Given the description of an element on the screen output the (x, y) to click on. 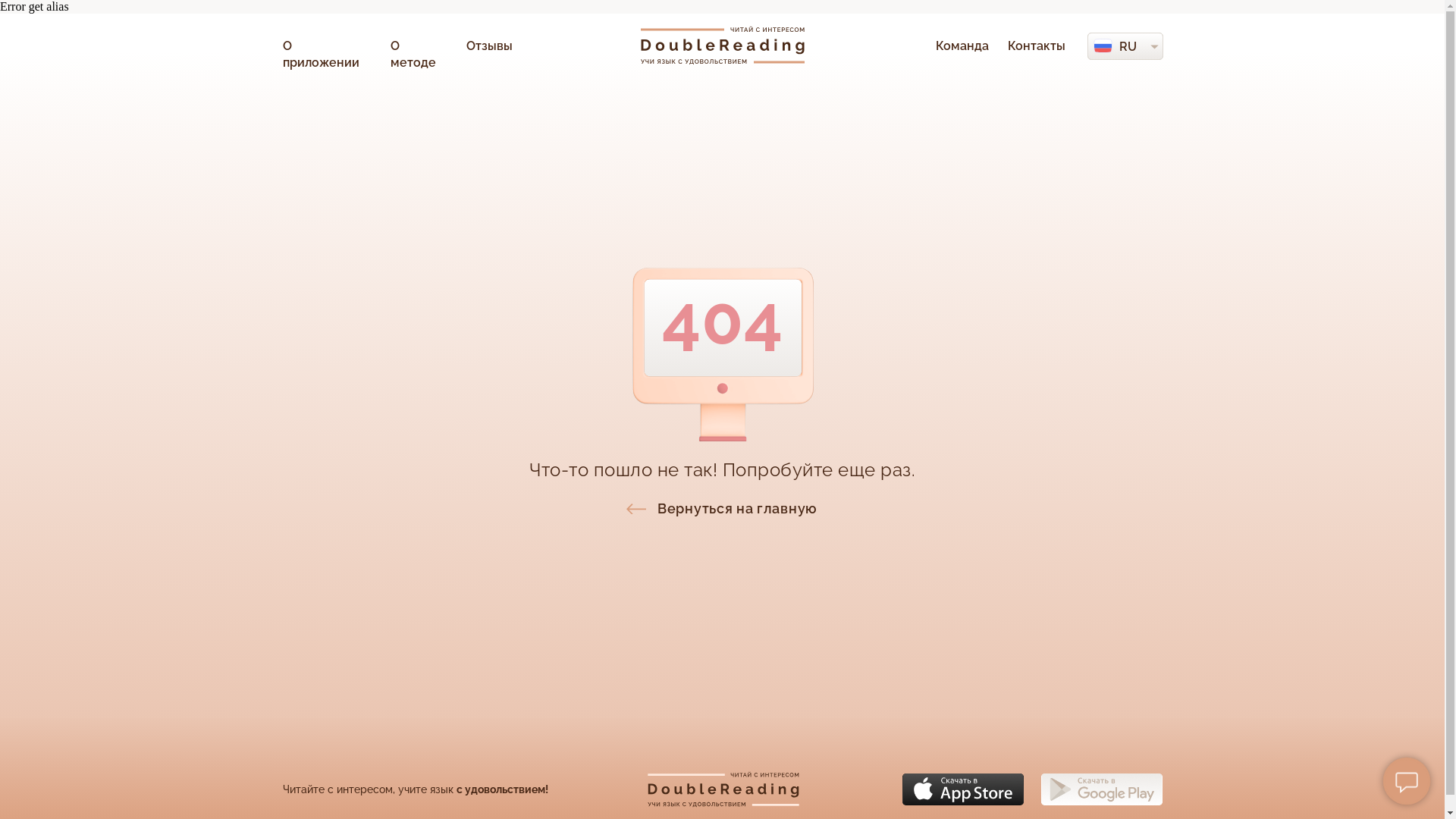
RU Element type: text (1127, 46)
